Given the description of an element on the screen output the (x, y) to click on. 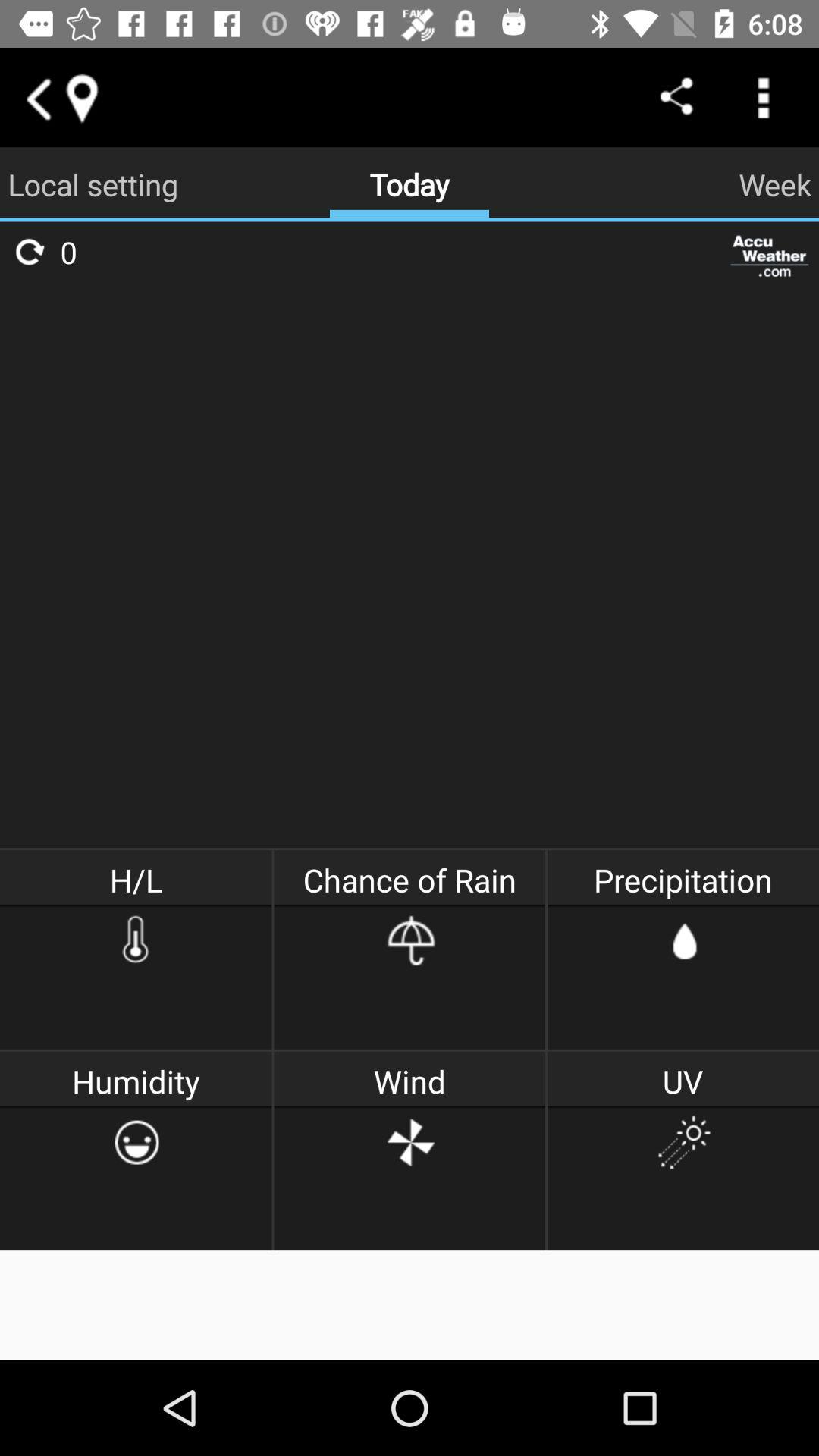
go to current location (81, 97)
